Given the description of an element on the screen output the (x, y) to click on. 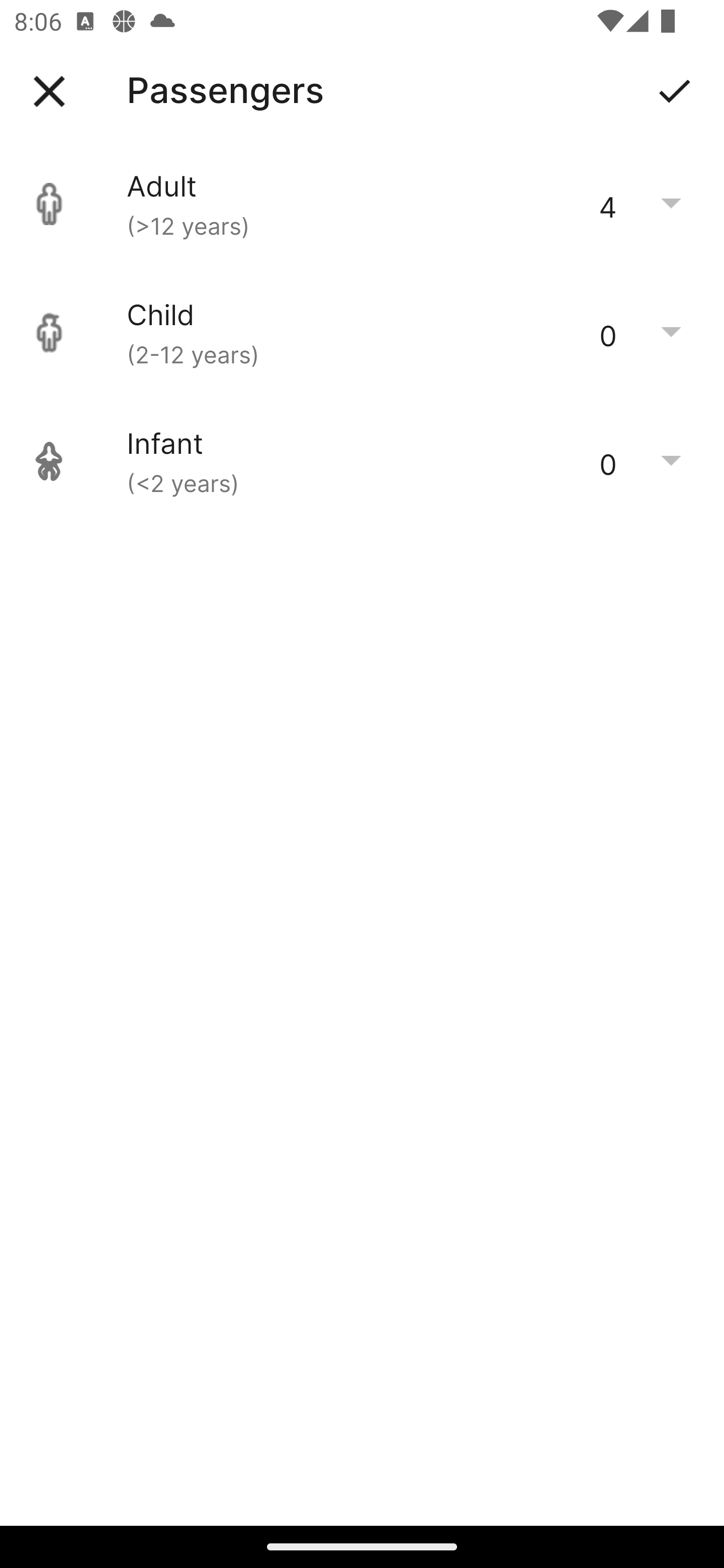
Adult (>12 years) 4 (362, 204)
Child (2-12 years) 0 (362, 332)
Infant (<2 years) 0 (362, 461)
